Given the description of an element on the screen output the (x, y) to click on. 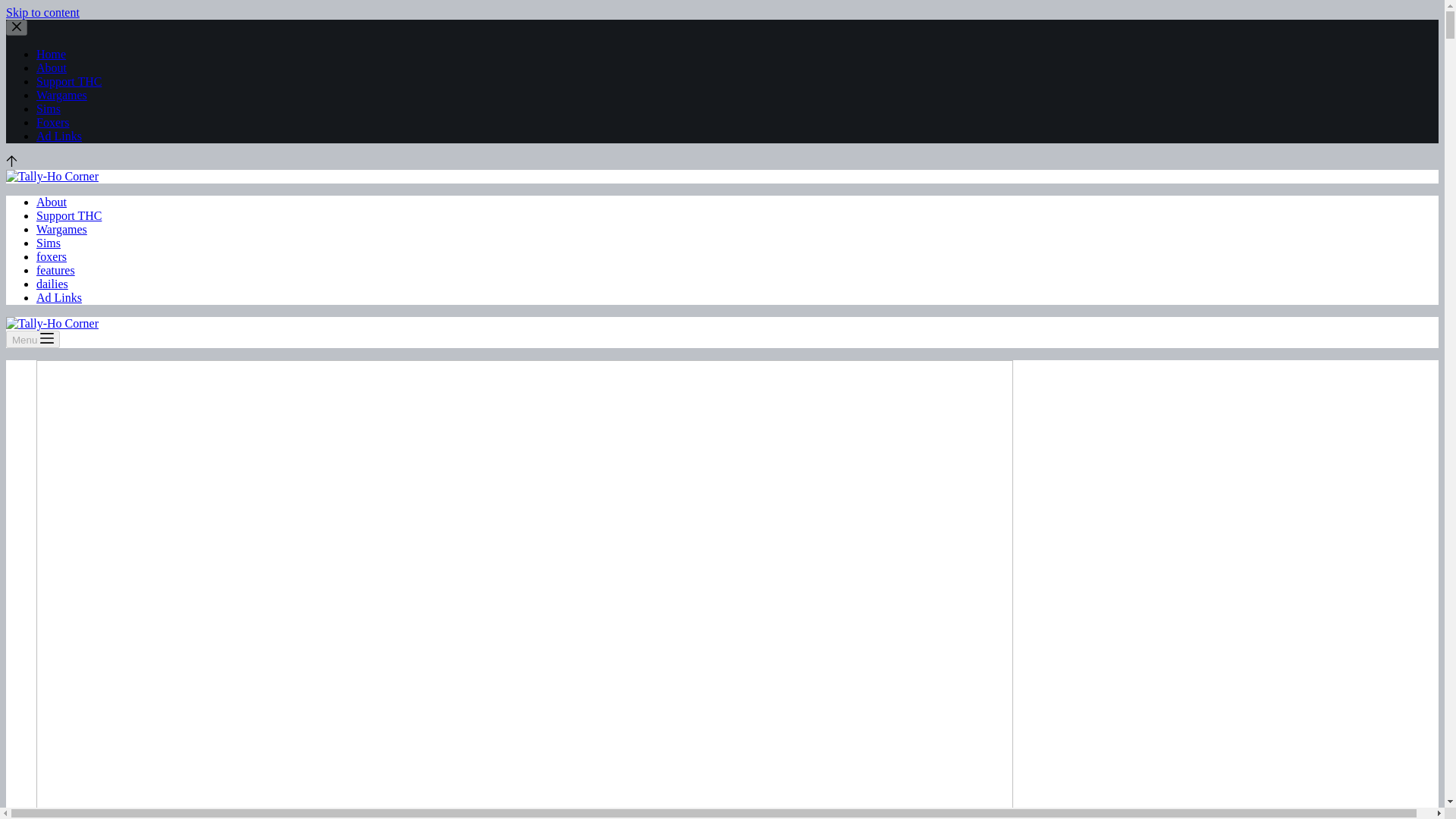
features (55, 269)
Sims (48, 108)
Ad Links (58, 297)
Support THC (68, 215)
Sims (48, 242)
About (51, 201)
Support THC (68, 81)
foxers (51, 256)
Ad Links (58, 135)
Menu (32, 339)
dailies (52, 283)
Foxers (52, 122)
Go to top (11, 162)
About (51, 67)
Skip to content (42, 11)
